Given the description of an element on the screen output the (x, y) to click on. 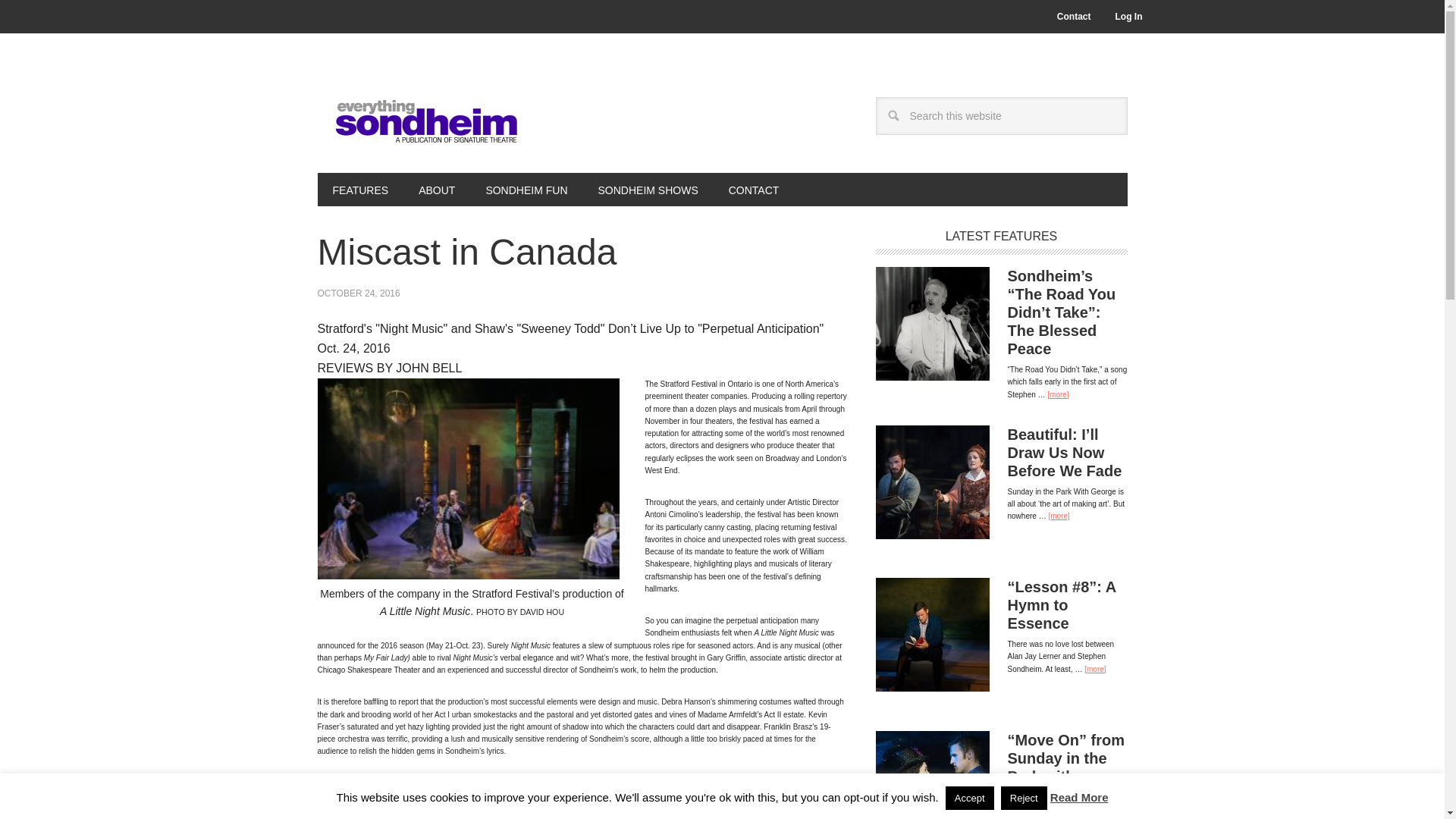
EVERYTHING SONDHEIM (419, 115)
Log In (1128, 16)
Contact (1074, 16)
SONDHEIM SHOWS (647, 189)
ABOUT (436, 189)
SONDHEIM FUN (526, 189)
CONTACT (753, 189)
FEATURES (360, 189)
